Given the description of an element on the screen output the (x, y) to click on. 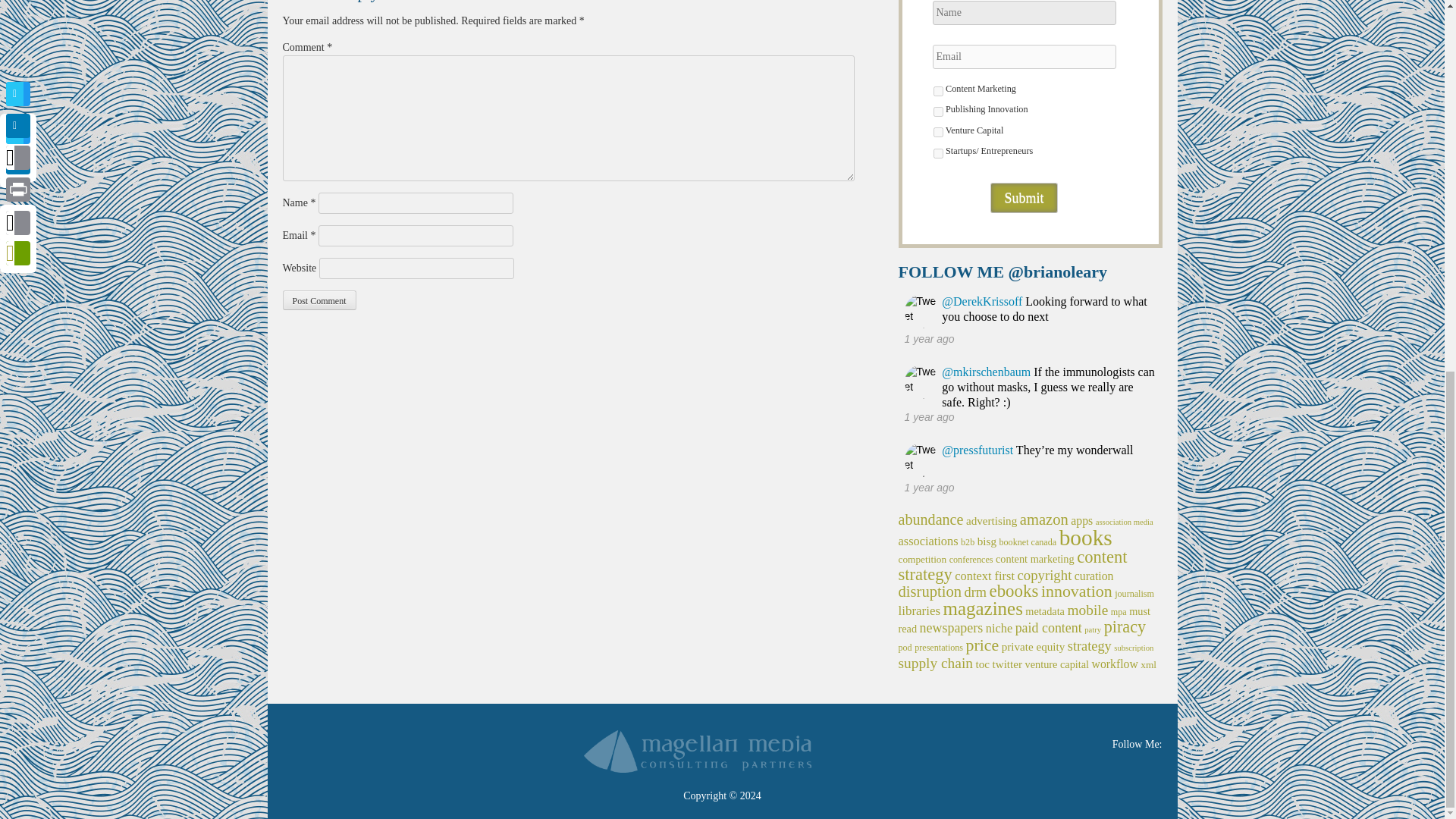
Submit (1023, 197)
Submit (1023, 197)
1 year ago (928, 417)
Content Marketing (937, 91)
Post Comment (318, 300)
Publishing Innovation (937, 112)
Post Comment (318, 300)
Venture Capital (937, 132)
1 year ago (928, 338)
